Given the description of an element on the screen output the (x, y) to click on. 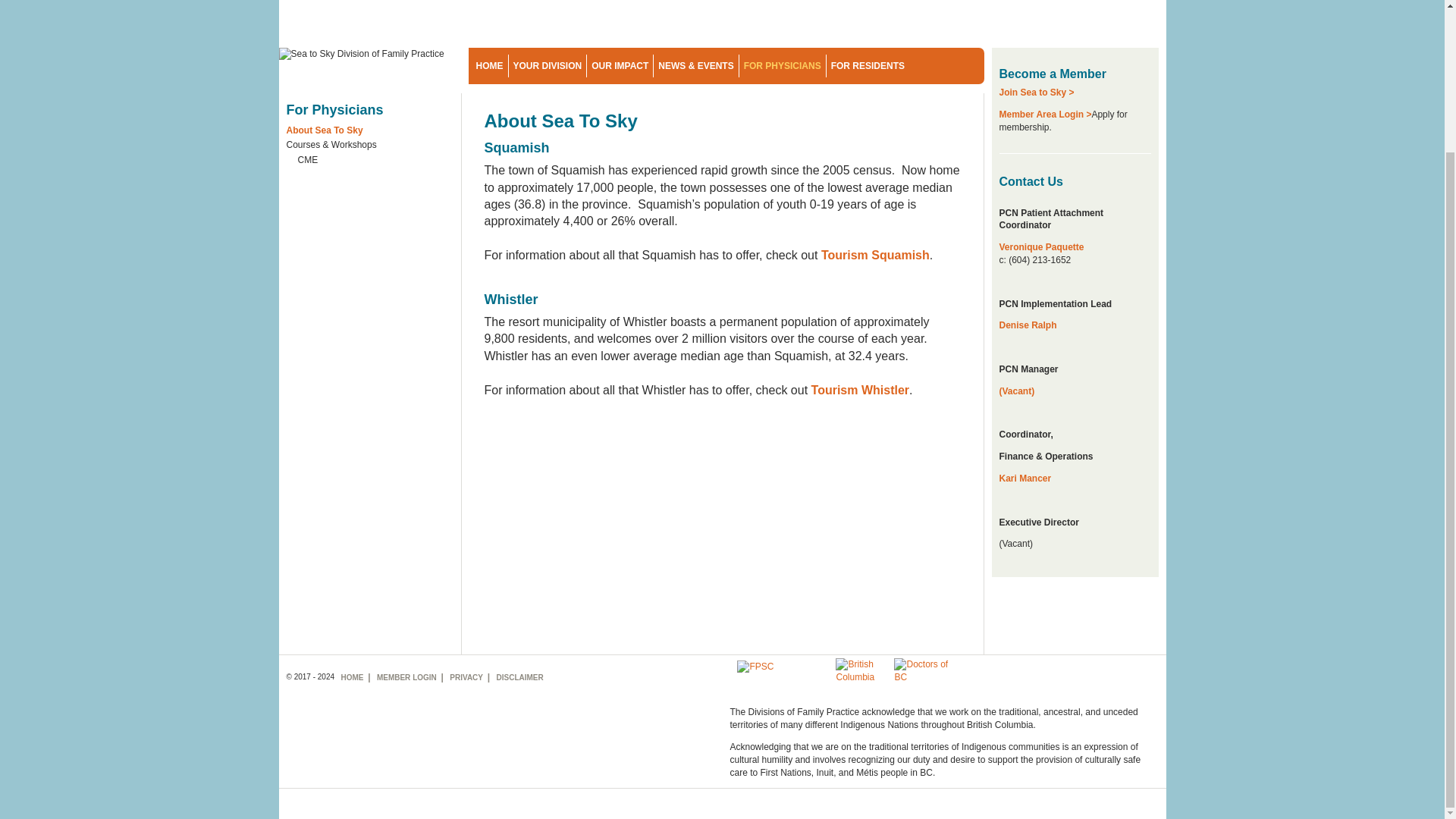
HOME (488, 65)
FOR PHYSICIANS (783, 65)
 Tourism Whistler (858, 390)
FOR RESIDENTS (869, 65)
About Sea To Sky (369, 132)
CME (374, 161)
Veronique Paquette (1041, 246)
YOUR DIVISION (547, 65)
Tourism Squamish (875, 254)
OUR IMPACT (619, 65)
